Given the description of an element on the screen output the (x, y) to click on. 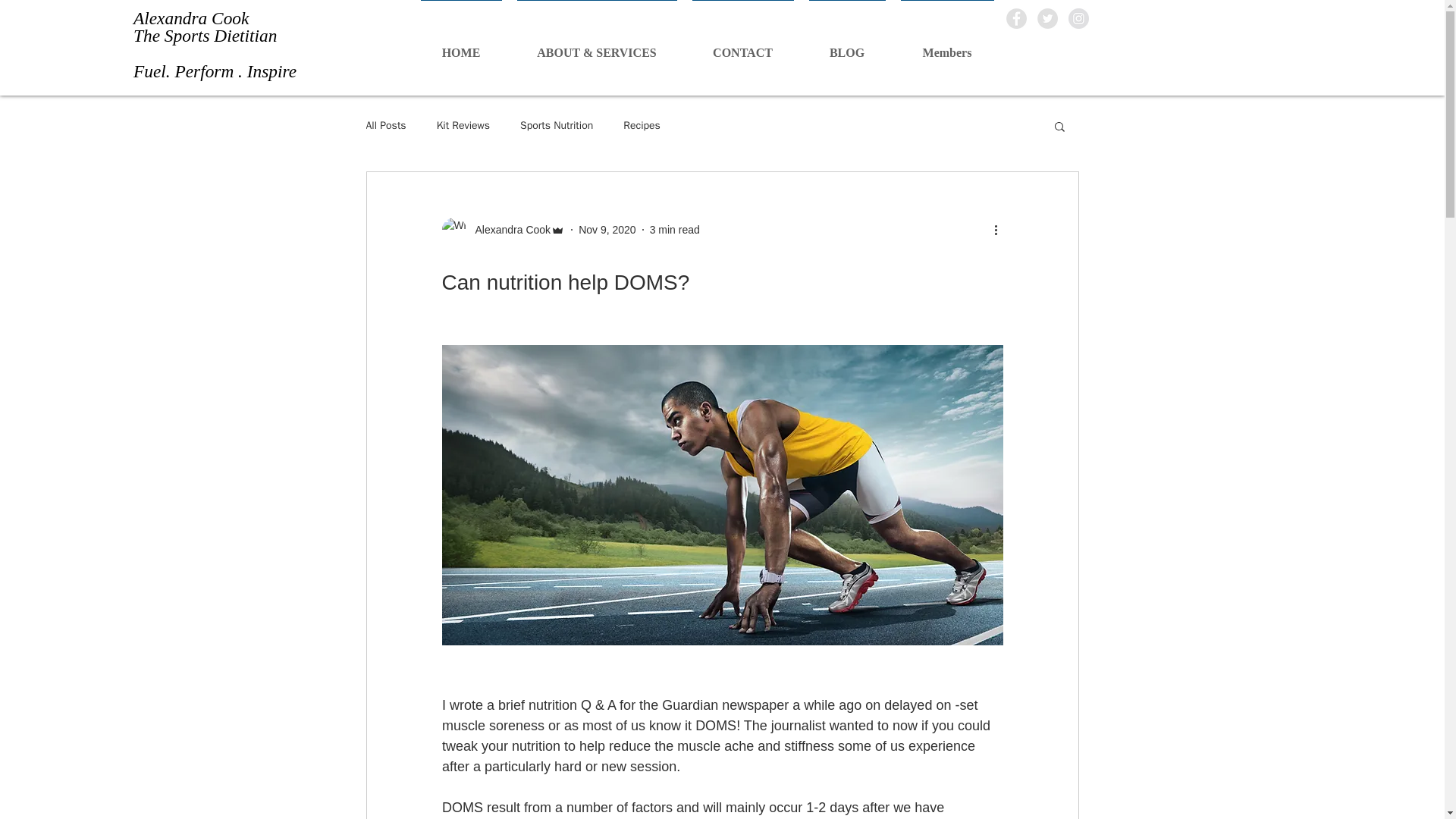
Kit Reviews (462, 125)
Alexandra Cook (507, 229)
Sports Nutrition (555, 125)
Recipes (642, 125)
All Posts (385, 125)
CONTACT (742, 46)
BLOG (846, 46)
HOME (460, 46)
Nov 9, 2020 (607, 228)
Alexandra Cook (502, 229)
Members (947, 46)
3 min read (674, 228)
